Given the description of an element on the screen output the (x, y) to click on. 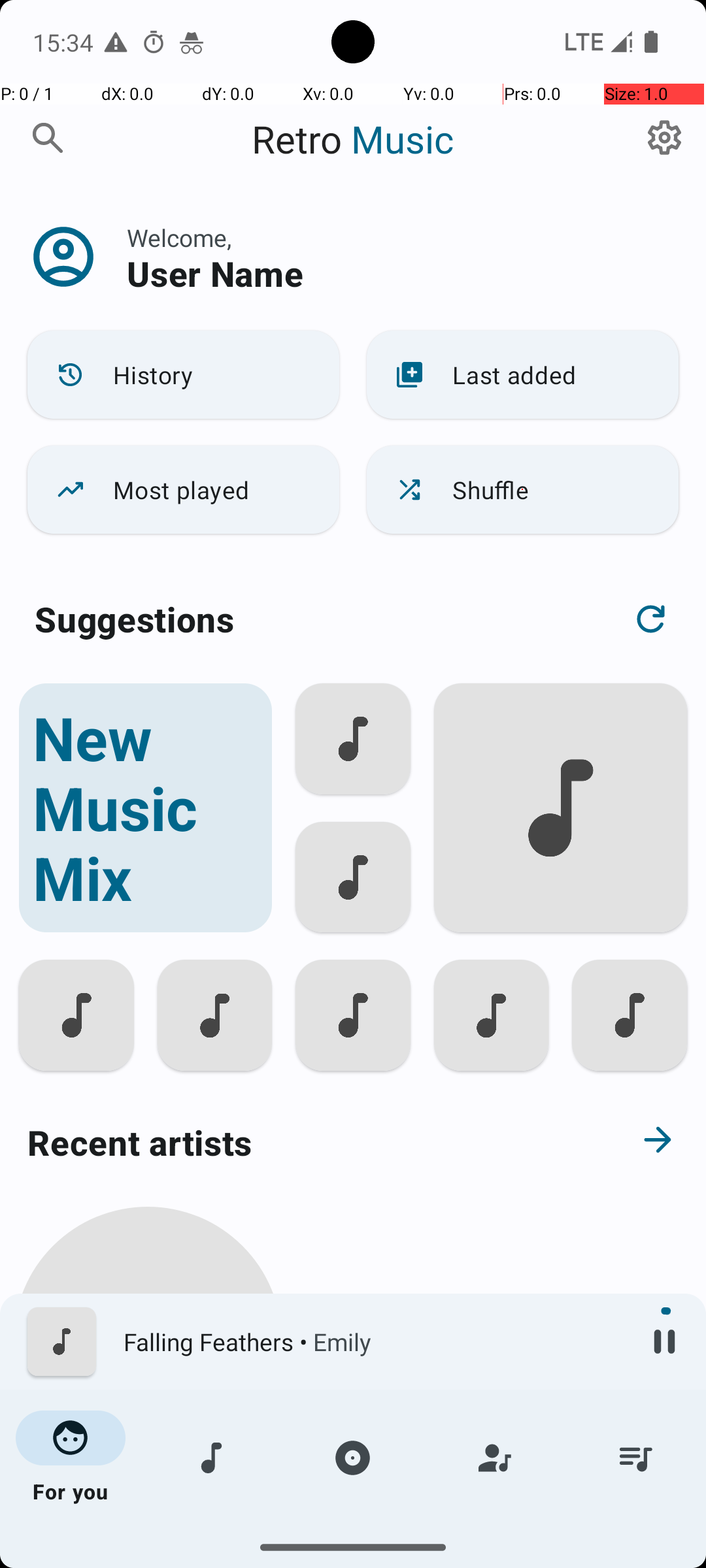
Welcome, Element type: android.widget.TextView (179, 237)
User Name Element type: android.widget.TextView (214, 273)
Falling Feathers • Emily Element type: android.widget.TextView (372, 1341)
Most played Element type: android.widget.Button (183, 489)
Suggestions Element type: android.widget.TextView (134, 618)
New Music Mix Element type: android.widget.TextView (144, 807)
Recent artists Element type: android.widget.TextView (304, 1141)
Recent albums Element type: android.widget.TextView (304, 1557)
Mohammad Element type: android.widget.TextView (147, 1503)
